Given the description of an element on the screen output the (x, y) to click on. 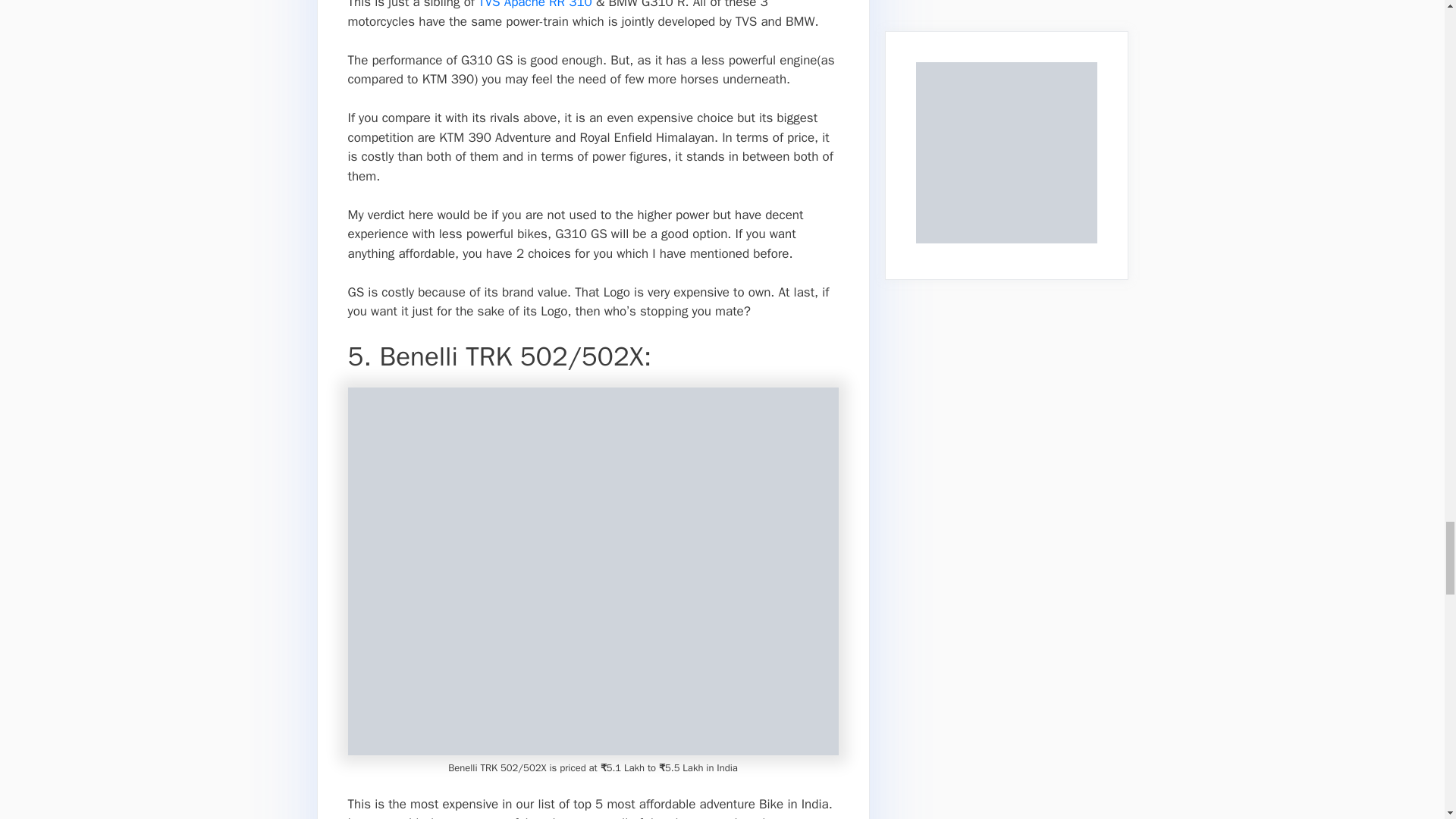
TVS Apache RR 310 (535, 4)
